Given the description of an element on the screen output the (x, y) to click on. 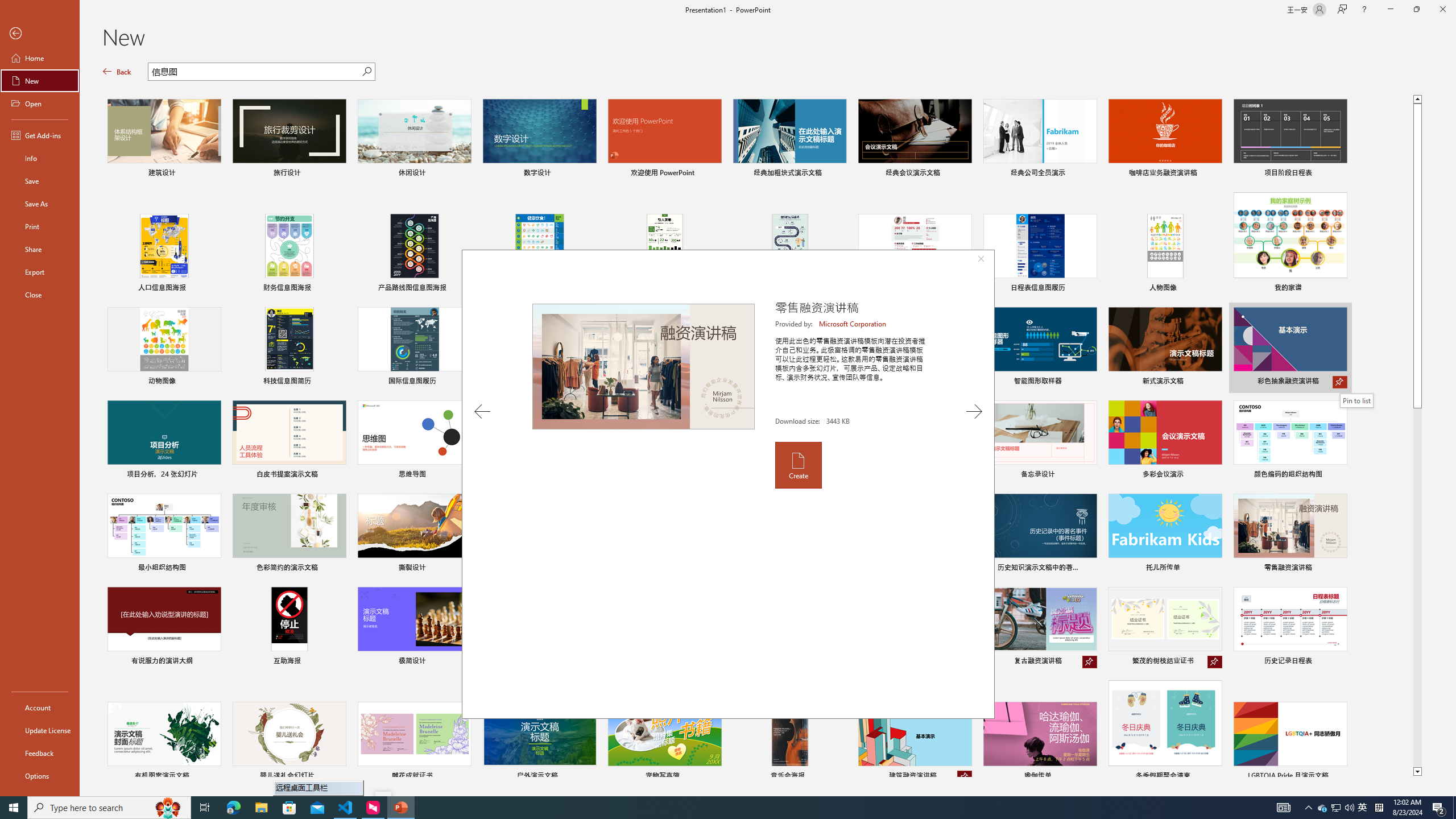
Print (40, 225)
Pin to list (1356, 400)
Pin to list (1339, 776)
Next Template (974, 411)
Start searching (366, 71)
Search for online templates and themes (254, 73)
